Given the description of an element on the screen output the (x, y) to click on. 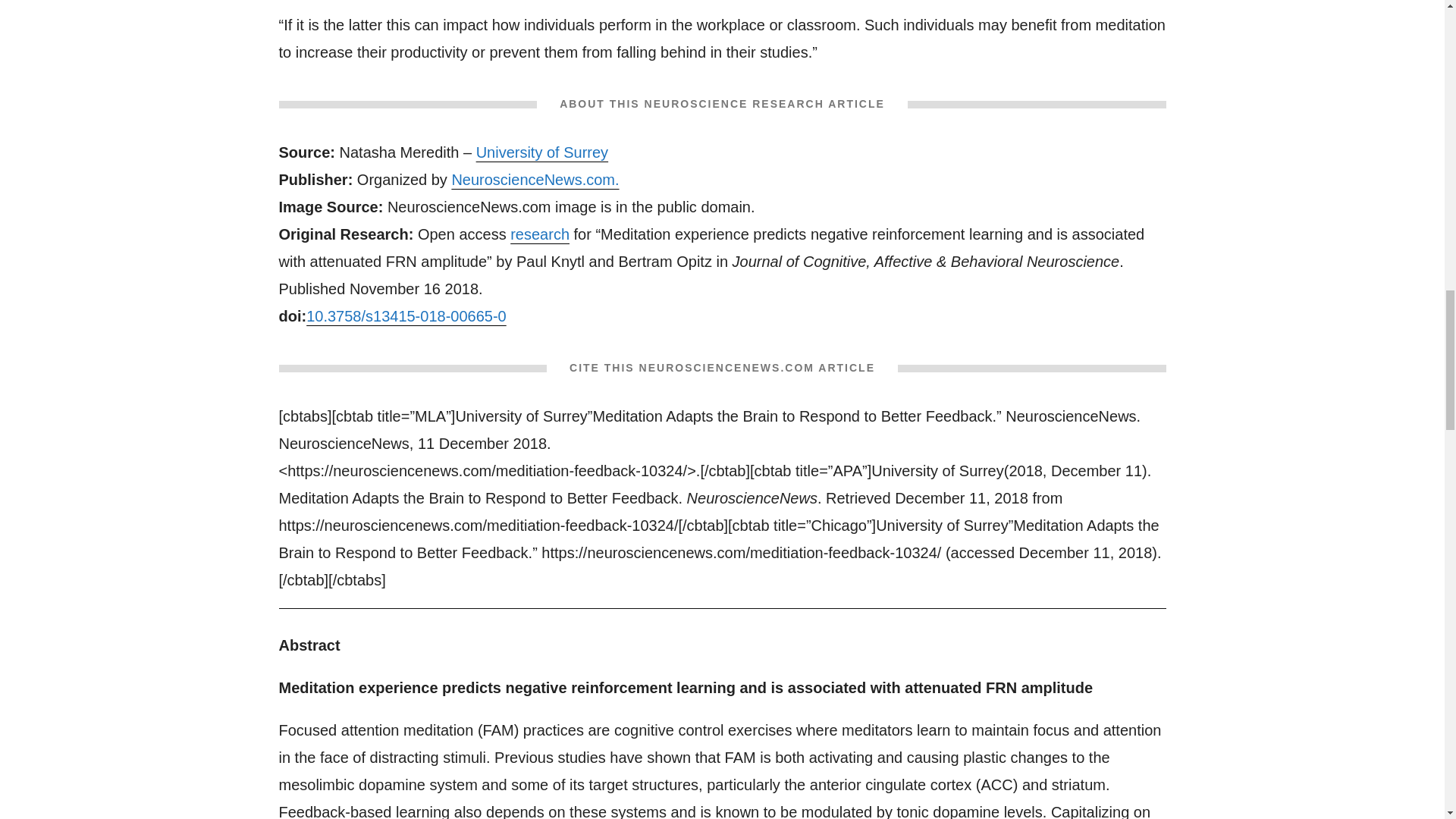
research (540, 234)
University of Surrey (542, 152)
NeuroscienceNews.com. (534, 179)
